Given the description of an element on the screen output the (x, y) to click on. 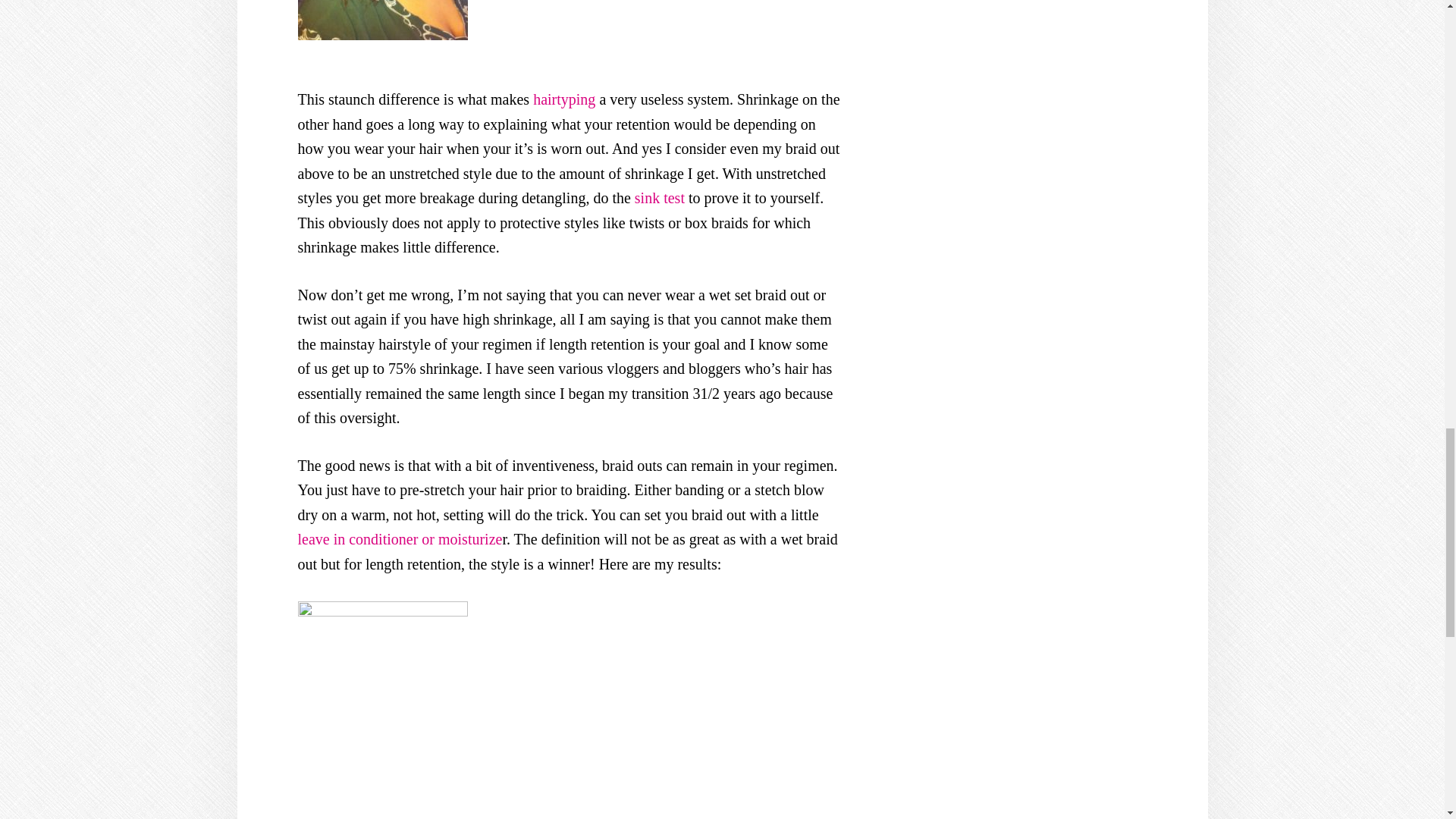
Braidout on wet hair (382, 20)
Straightened Hair (614, 20)
